Given the description of an element on the screen output the (x, y) to click on. 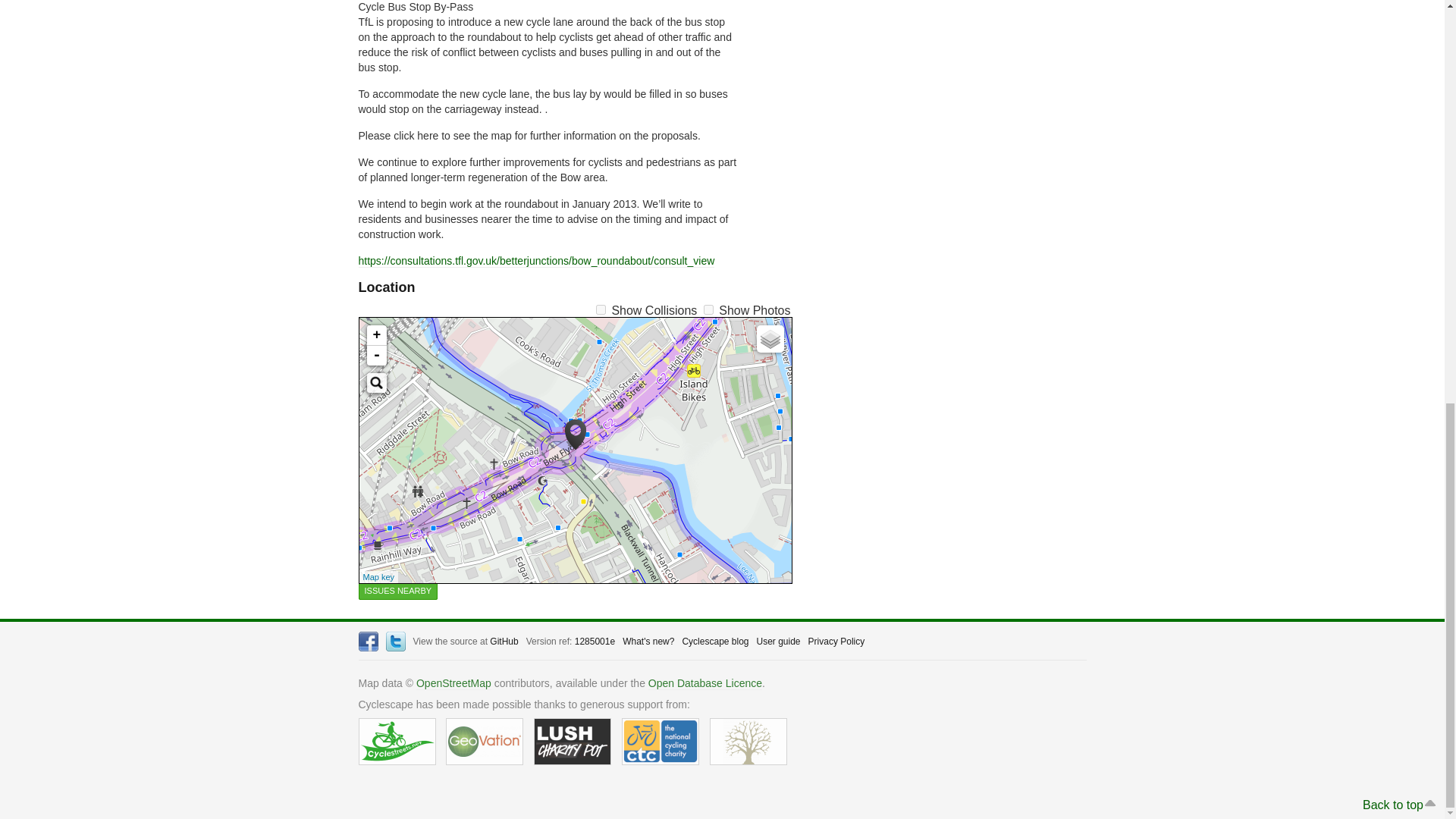
GitHub (503, 641)
Map key (378, 576)
Zoom in (376, 335)
Cyclescape Facebook page (367, 641)
Zoom out (376, 355)
1 (600, 309)
Funding from CycleStreets (396, 741)
Cyclescape blog (714, 641)
Layers (770, 338)
Funding from Funding from Lush Charity Pot (572, 741)
